Given the description of an element on the screen output the (x, y) to click on. 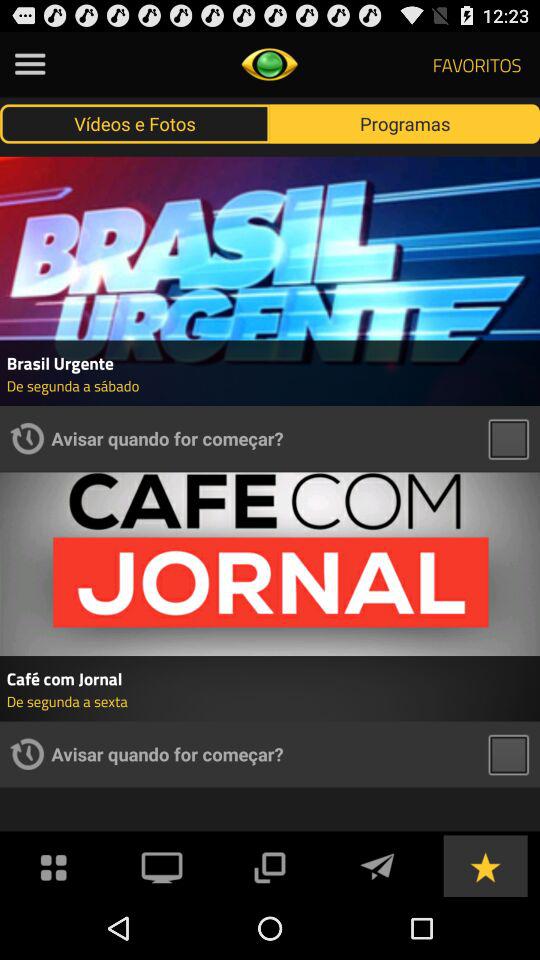
tab to select (508, 753)
